Given the description of an element on the screen output the (x, y) to click on. 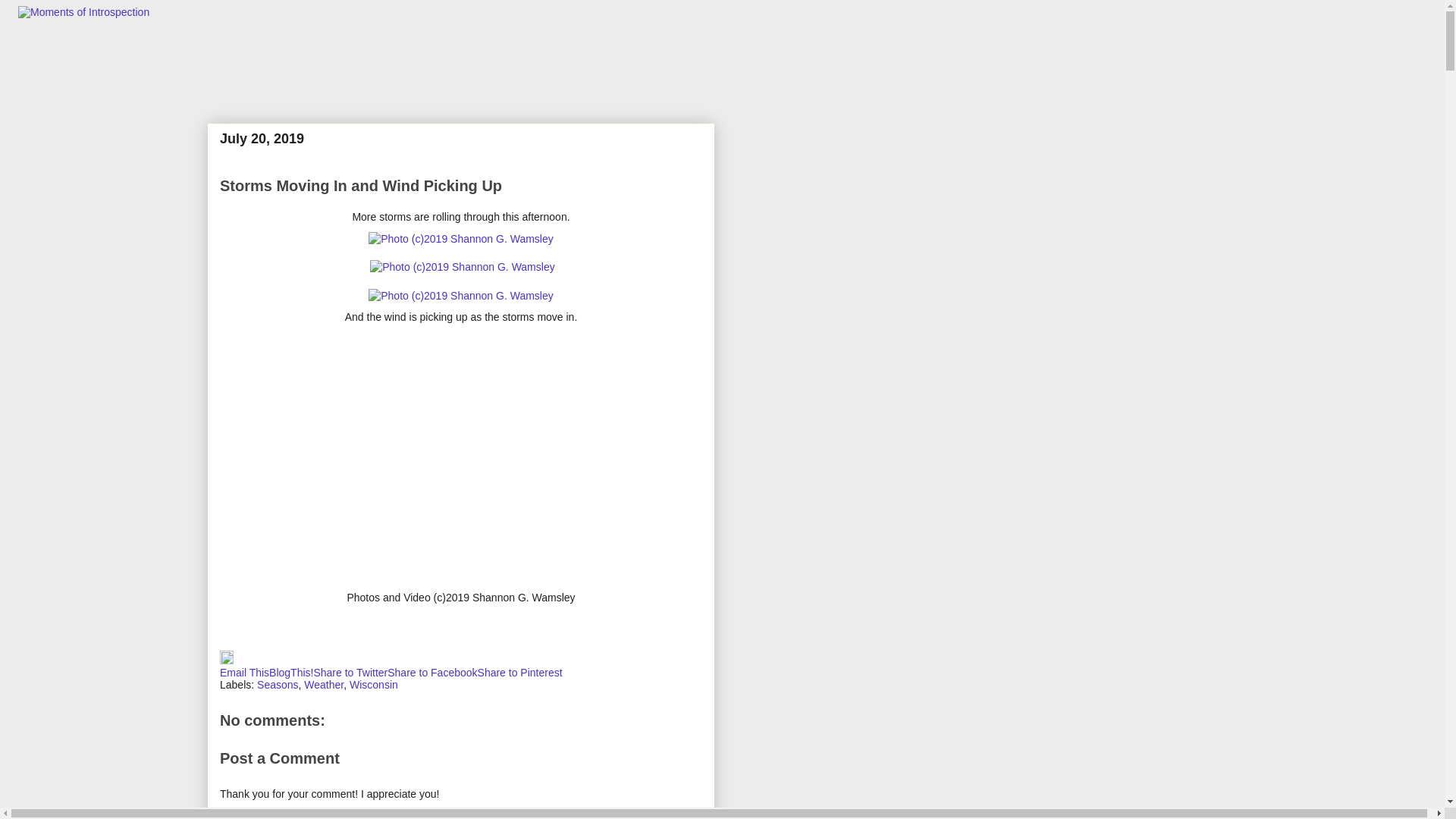
Share to Facebook (432, 672)
Edit Post (225, 660)
Seasons (277, 684)
Share to Pinterest (519, 672)
BlogThis! (291, 672)
Wisconsin (373, 684)
Share to Facebook (432, 672)
Share to Twitter (350, 672)
Email This (244, 672)
Share to Pinterest (519, 672)
Share to Twitter (350, 672)
Email This (244, 672)
BlogThis! (291, 672)
Weather (323, 684)
